Given the description of an element on the screen output the (x, y) to click on. 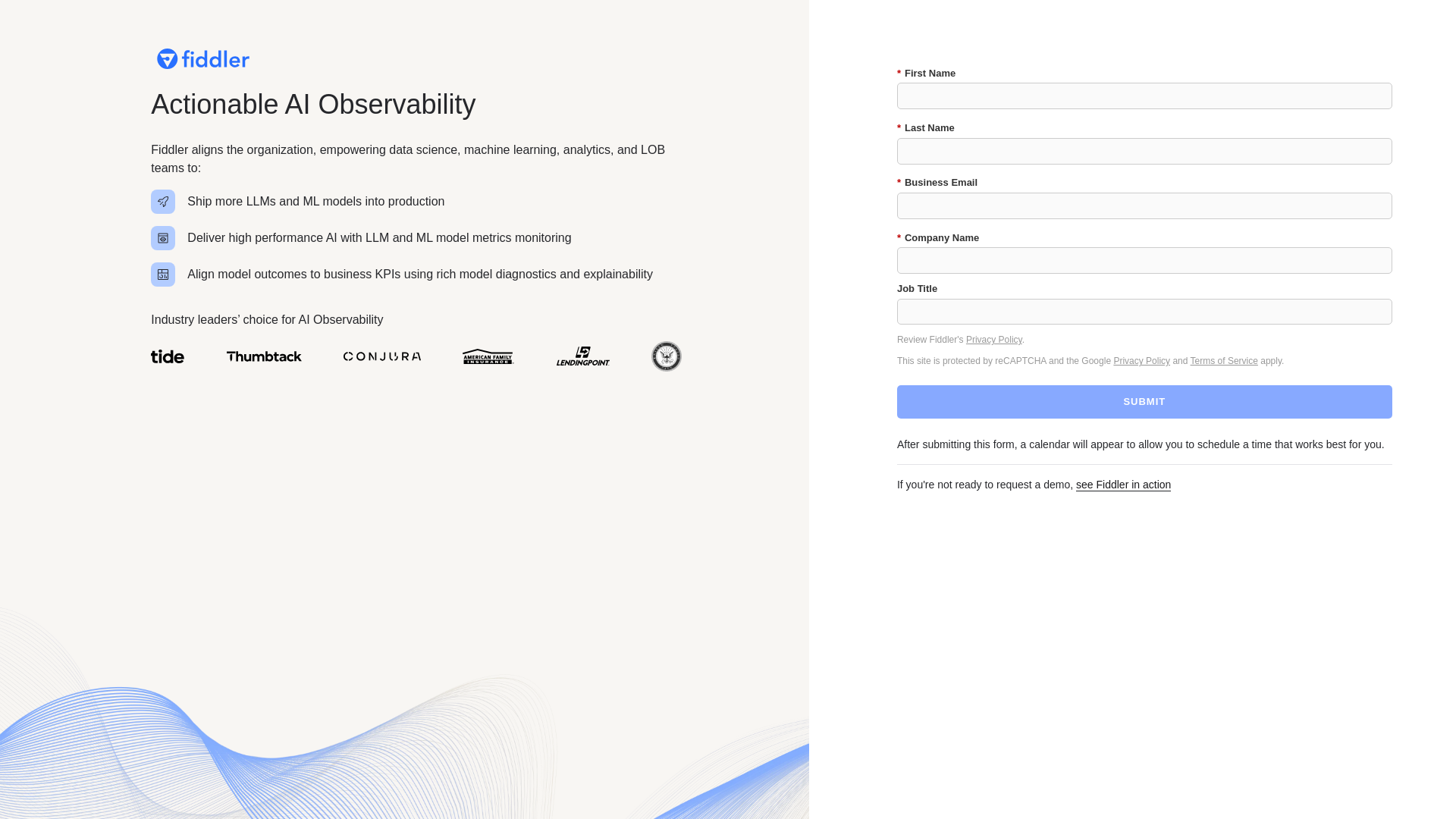
Terms of Service (1224, 360)
see Fiddler in action (1122, 484)
Privacy Policy (994, 339)
SUBMIT (1143, 401)
Privacy Policy (1141, 360)
